Given the description of an element on the screen output the (x, y) to click on. 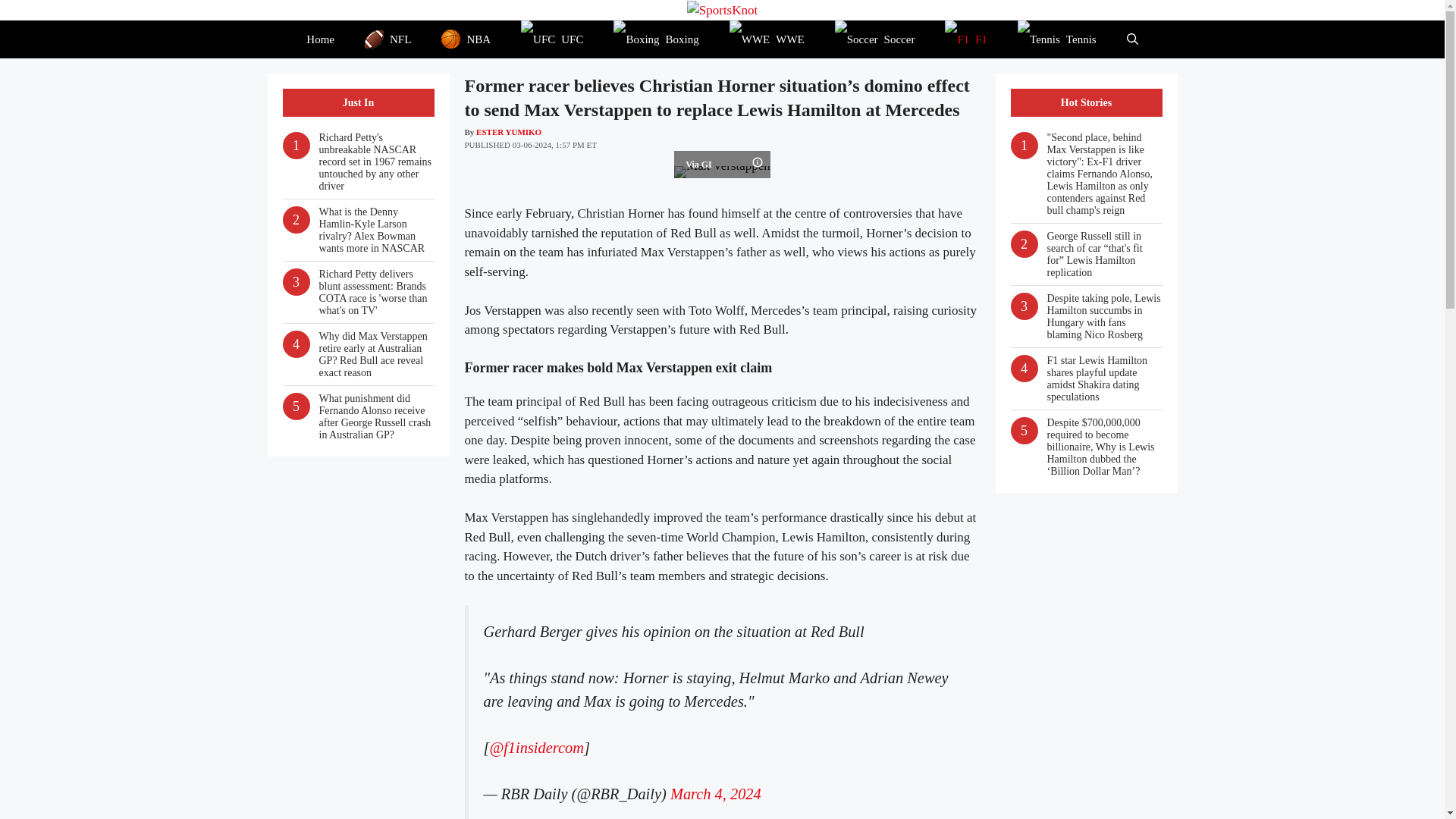
UFC (551, 39)
NFL (387, 39)
Tennis (1057, 39)
F1 (966, 39)
Boxing (655, 39)
ESTER YUMIKO (508, 131)
WWE (766, 39)
View all posts by Ester Yumiko (508, 131)
Soccer (874, 39)
March 4, 2024 (715, 793)
NBA (465, 39)
Home (320, 39)
